Given the description of an element on the screen output the (x, y) to click on. 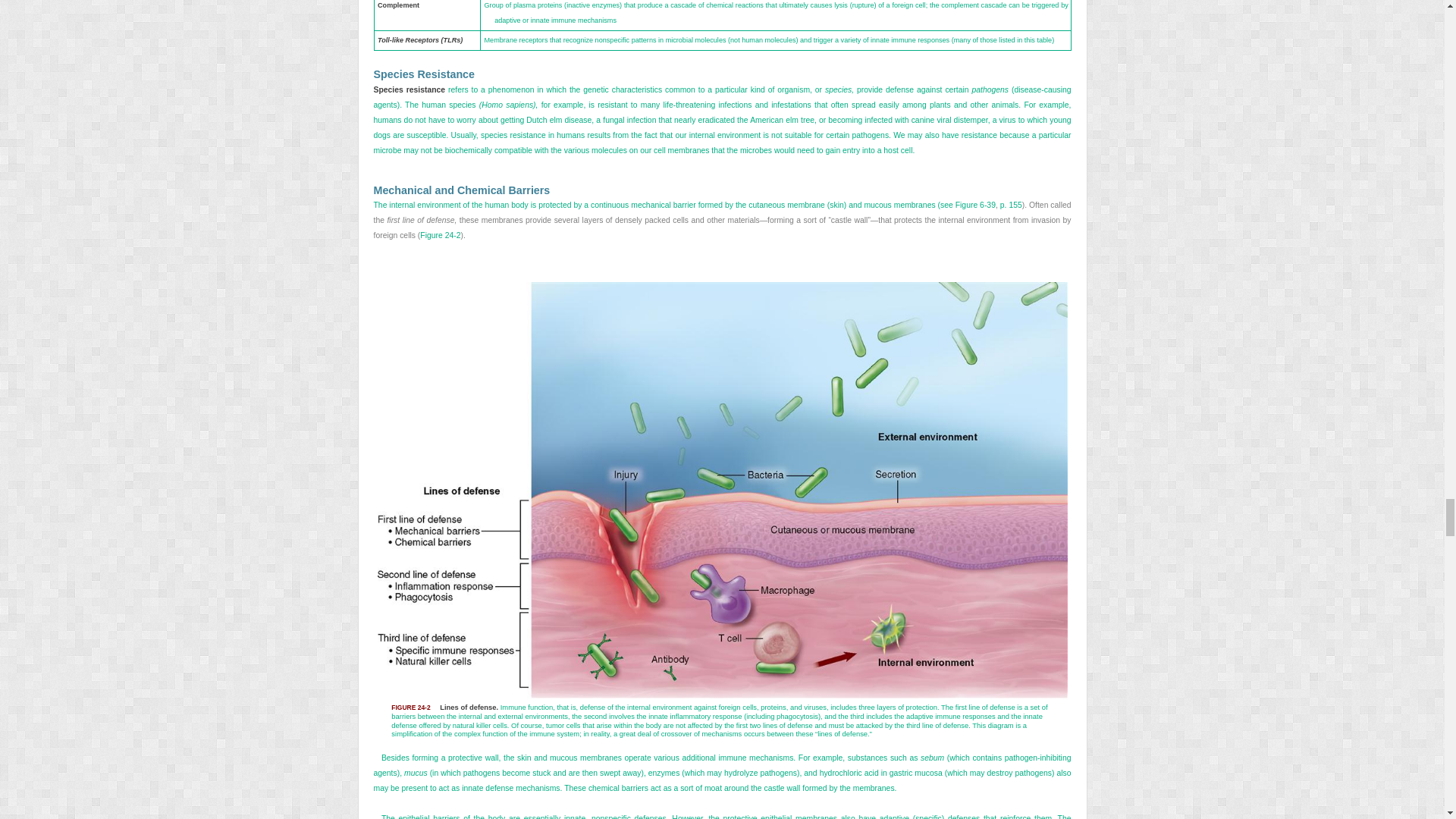
749 (721, 219)
